Given the description of an element on the screen output the (x, y) to click on. 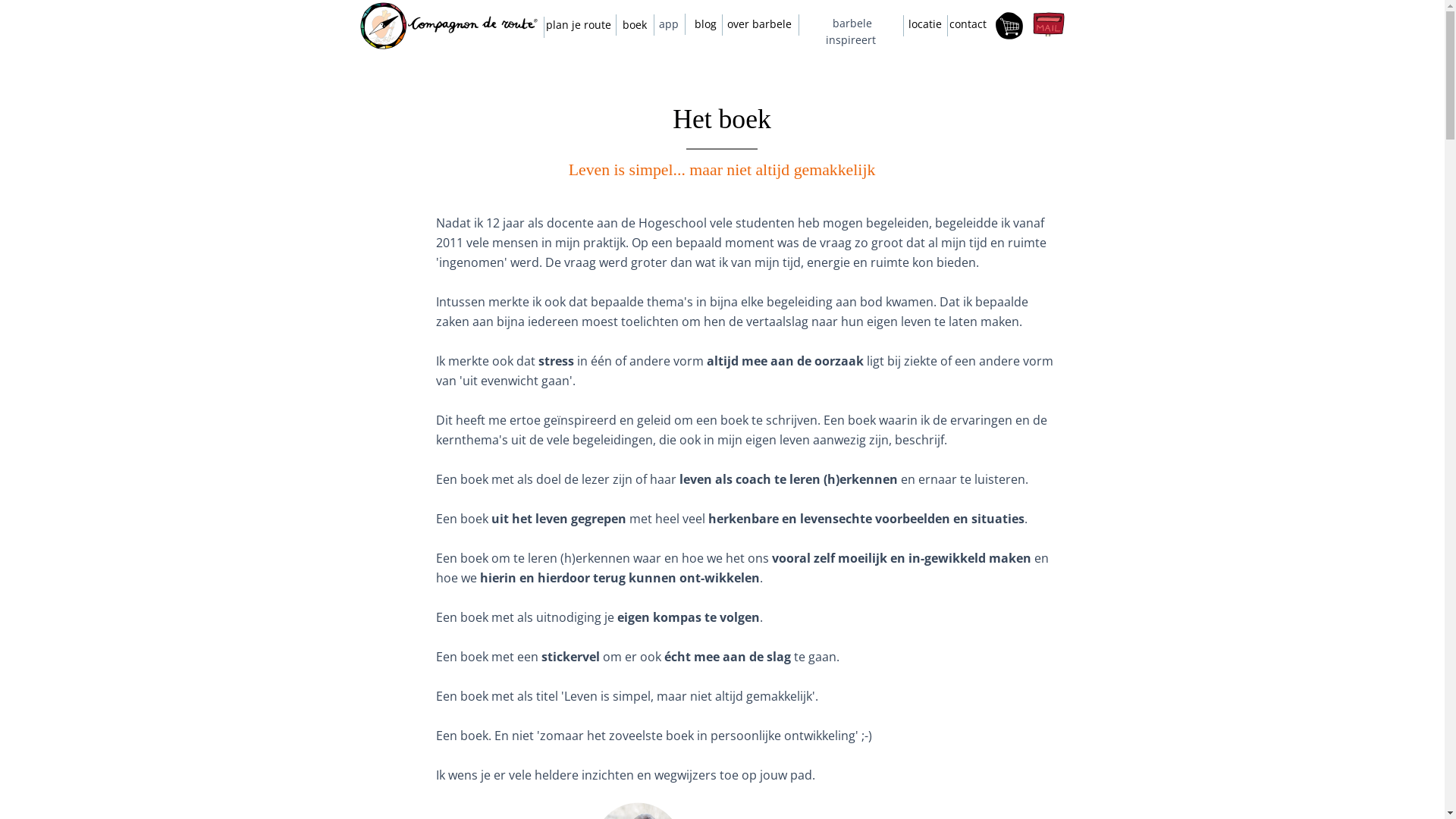
lan je route Element type: text (581, 24)
oek Element type: text (637, 24)
barbele inspireert Element type: text (850, 31)
app Element type: text (667, 23)
ocatie Element type: text (926, 23)
ontact Element type: text (970, 23)
log Element type: text (707, 23)
ver barbele Element type: text (762, 23)
